Given the description of an element on the screen output the (x, y) to click on. 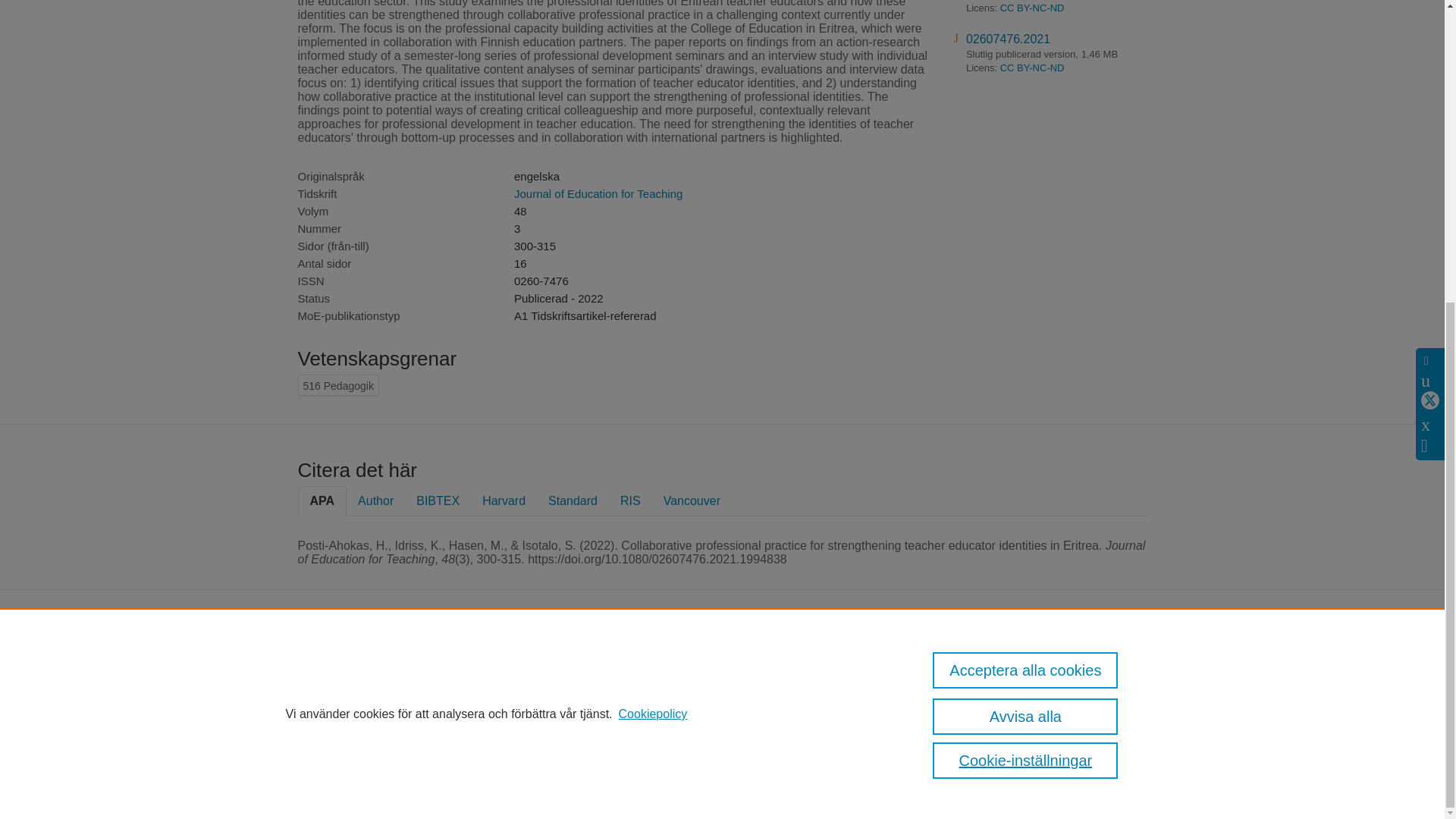
Elsevier B.V. (551, 685)
Logga in i Pure (329, 781)
Scopus (378, 665)
Pure (346, 665)
CC BY-NC-ND (1032, 67)
CC BY-NC-ND (1032, 7)
02607476.2021 (1007, 38)
Journal of Education for Teaching (597, 193)
